Given the description of an element on the screen output the (x, y) to click on. 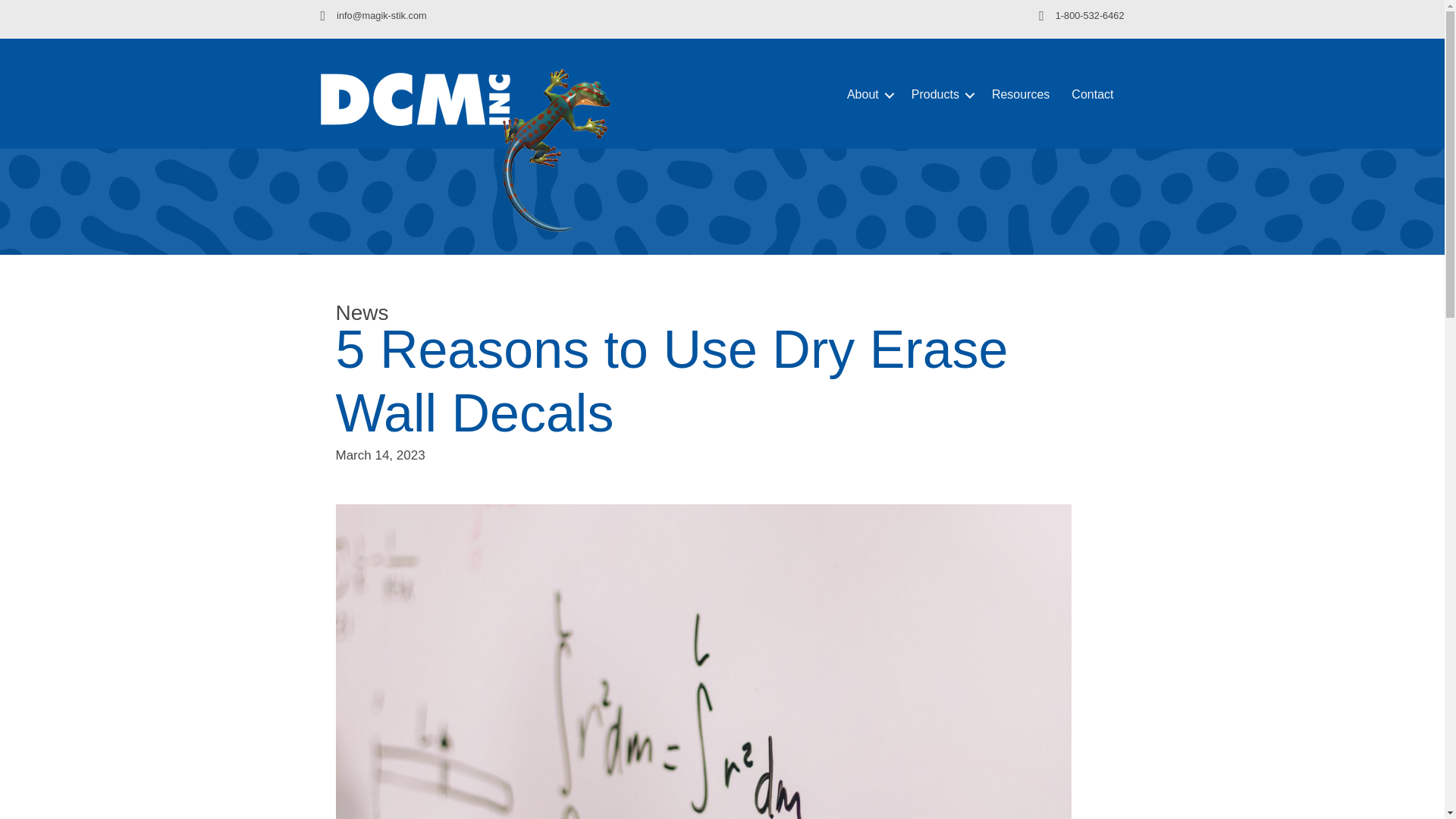
1-800-532-6462 (1089, 15)
News (361, 312)
Contact (1092, 94)
Products (940, 94)
Resources (1020, 94)
About (867, 94)
